Given the description of an element on the screen output the (x, y) to click on. 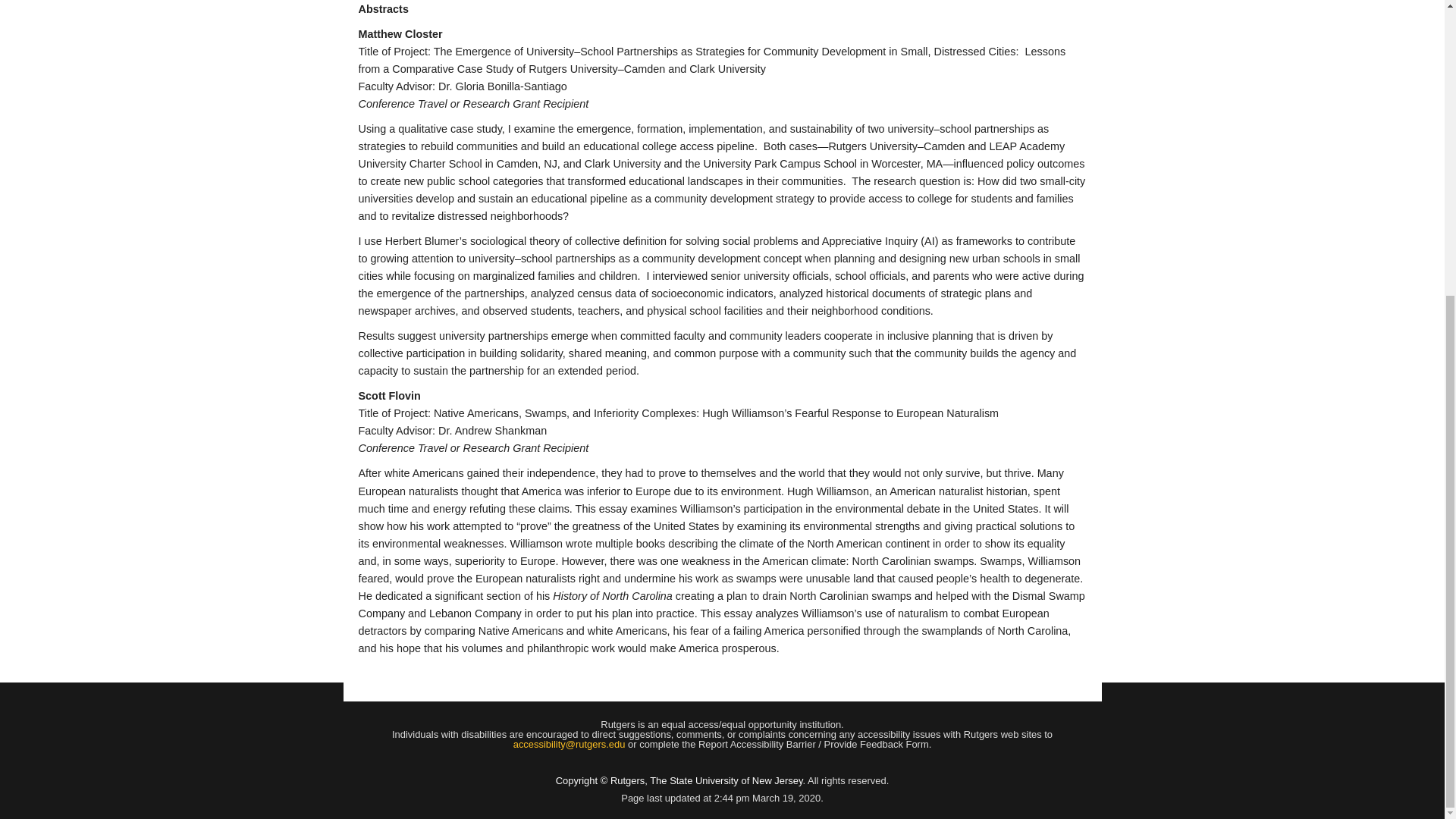
Rutgers, The State University of New Jersey (706, 780)
Copyright (576, 780)
